Given the description of an element on the screen output the (x, y) to click on. 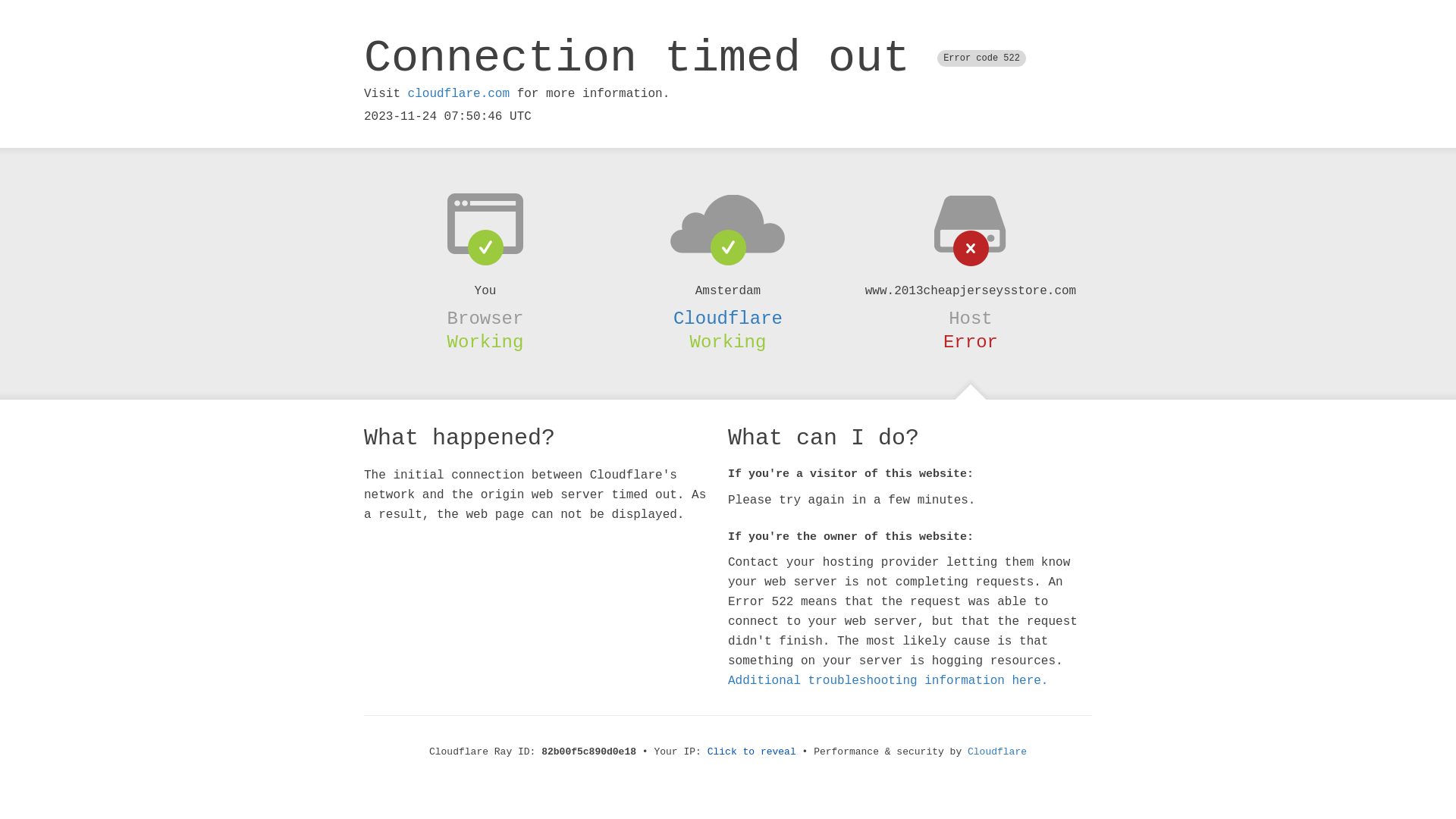
Click to reveal Element type: text (751, 751)
Cloudflare Element type: text (727, 318)
Cloudflare Element type: text (996, 751)
cloudflare.com Element type: text (458, 93)
Additional troubleshooting information here. Element type: text (888, 680)
